Given the description of an element on the screen output the (x, y) to click on. 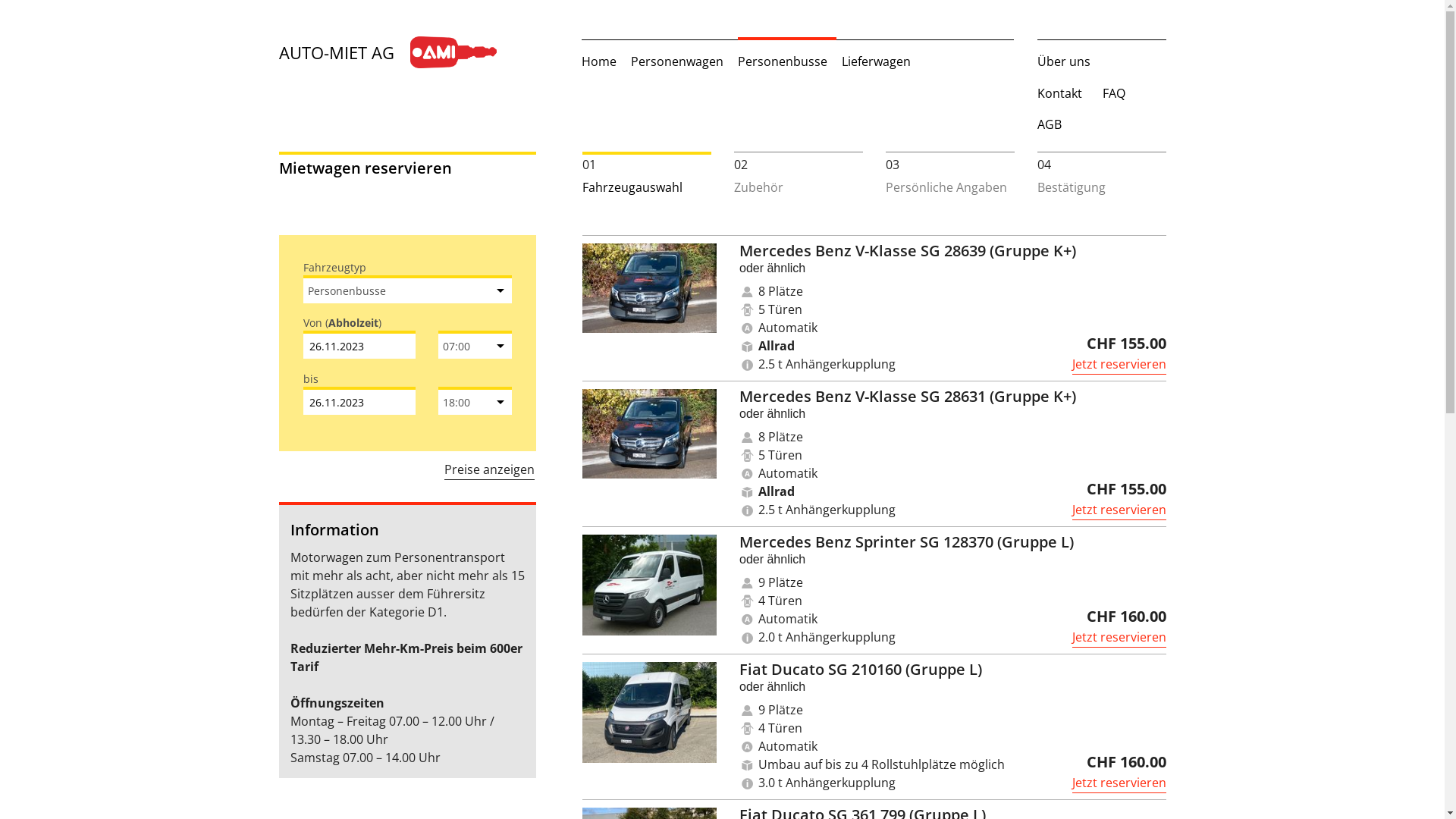
Personenwagen Element type: text (676, 61)
Personenbusse Element type: text (407, 290)
Jetzt reservieren Element type: text (1119, 637)
AGB Element type: text (1049, 124)
Jetzt reservieren Element type: text (1119, 510)
Kontakt   Element type: text (1062, 92)
07:00 Element type: text (474, 345)
18:00 Element type: text (474, 401)
Lieferwagen Element type: text (875, 61)
Jetzt reservieren Element type: text (1119, 364)
Jetzt reservieren Element type: text (1119, 783)
Personenbusse Element type: text (782, 61)
Home Element type: text (598, 61)
AUTO-MIET AG Element type: text (419, 52)
FAQ Element type: text (1113, 92)
